Given the description of an element on the screen output the (x, y) to click on. 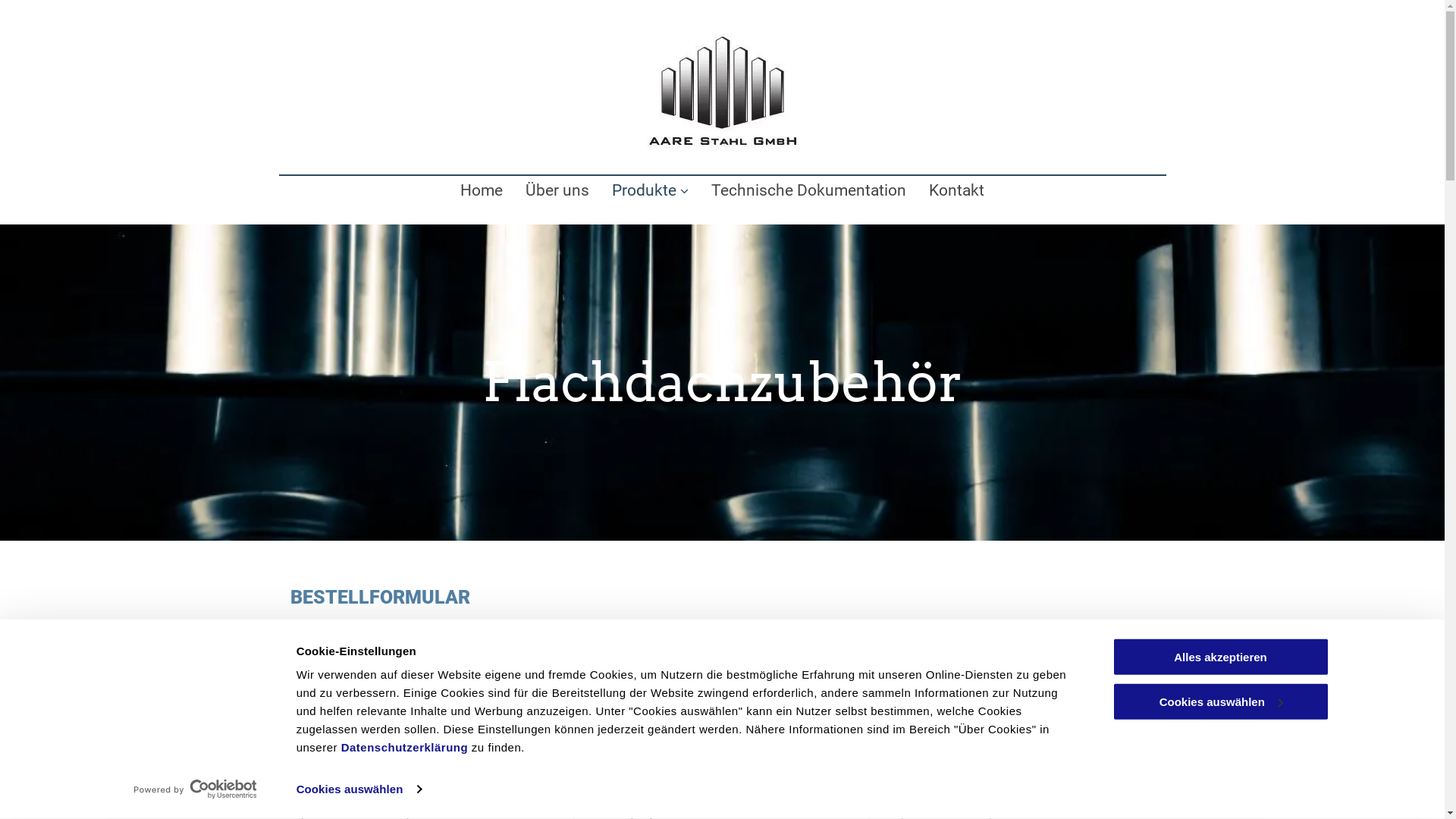
Produkte Element type: text (649, 190)
Technische Dokumentation Element type: text (808, 190)
Kontakt Element type: text (956, 190)
Alles akzeptieren Element type: text (1219, 656)
Home Element type: text (481, 190)
